Given the description of an element on the screen output the (x, y) to click on. 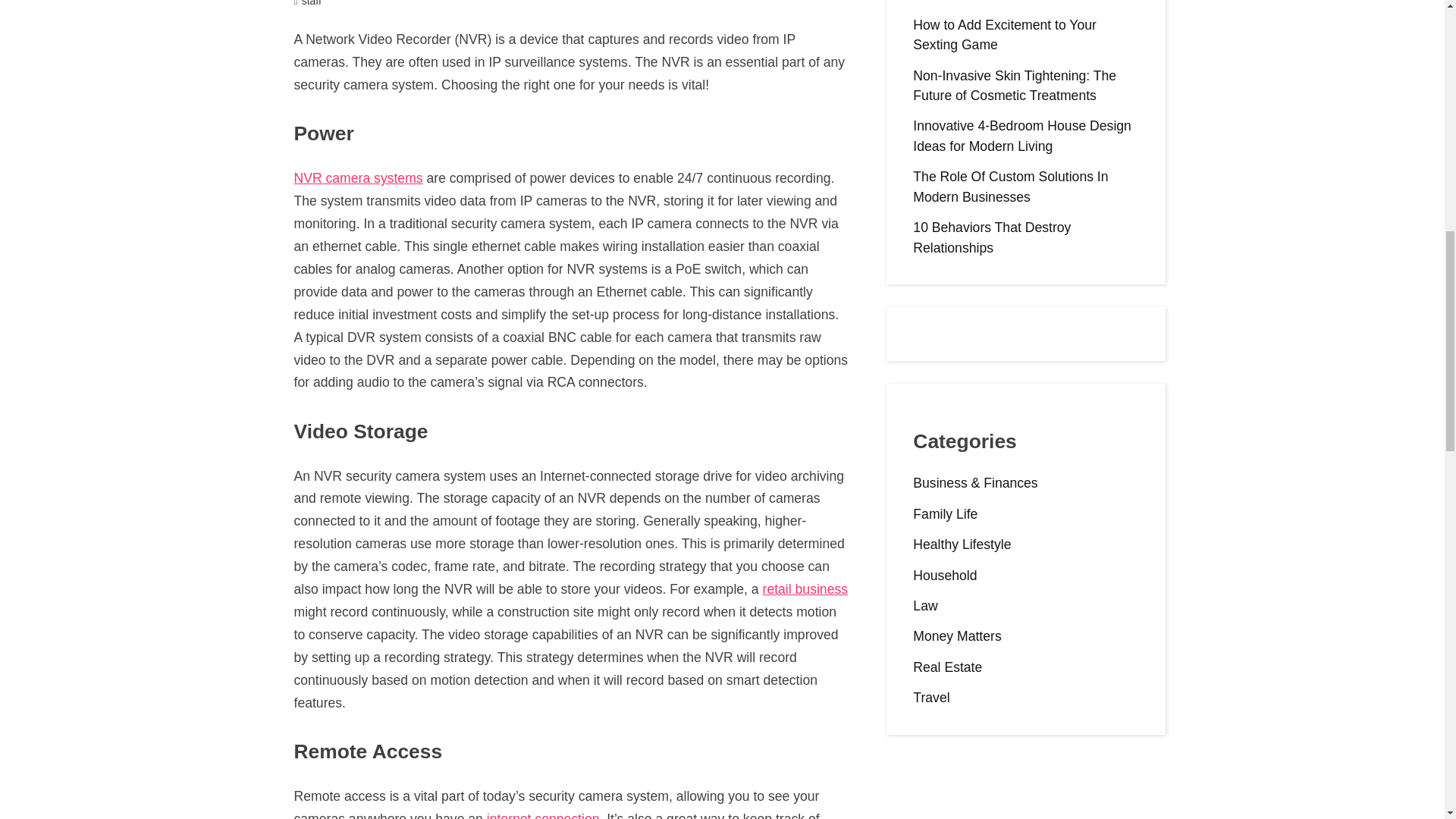
internet connection (542, 815)
staff (311, 3)
NVR camera systems (358, 177)
retail business (804, 589)
